Given the description of an element on the screen output the (x, y) to click on. 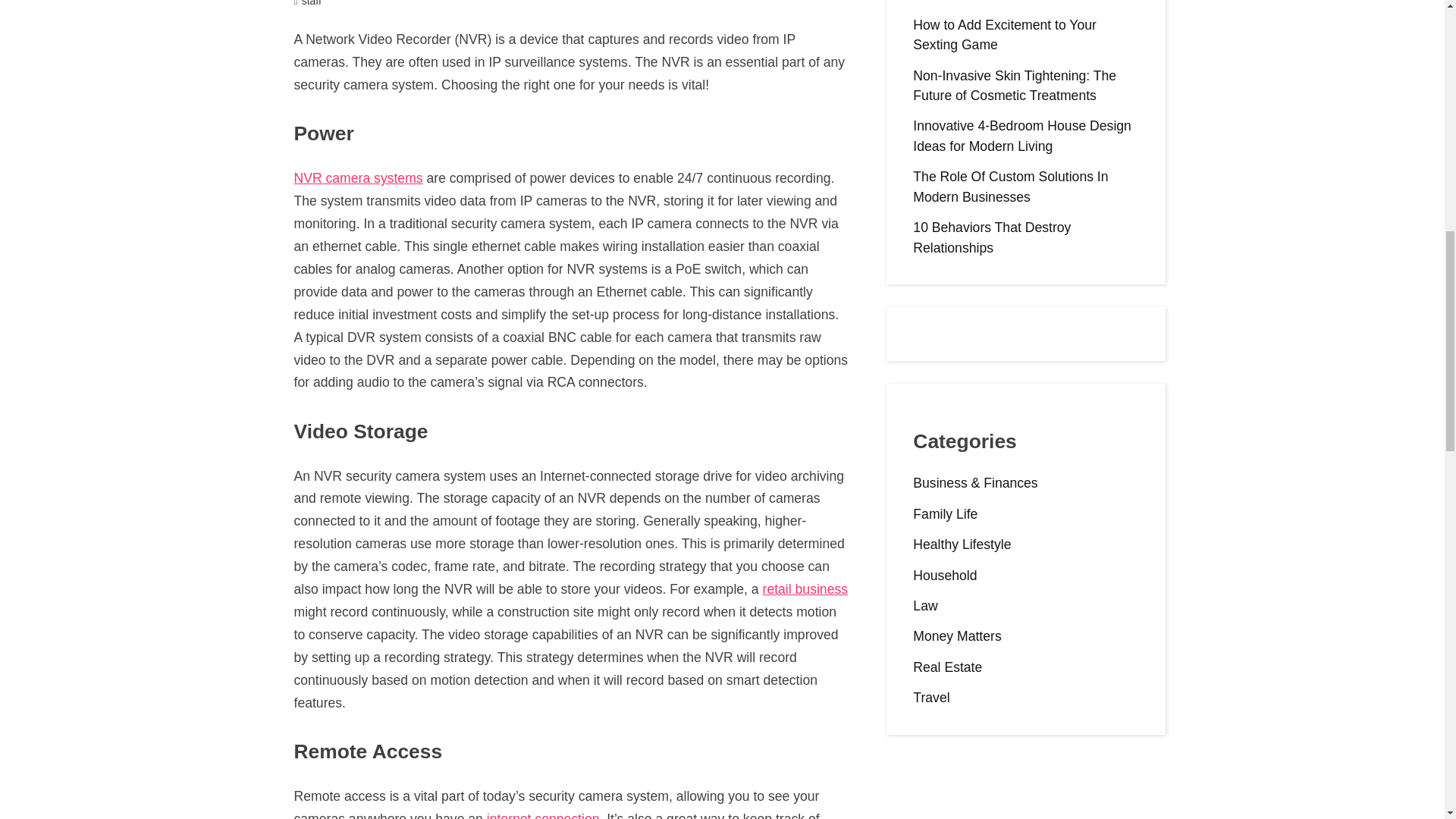
internet connection (542, 815)
staff (311, 3)
NVR camera systems (358, 177)
retail business (804, 589)
